Given the description of an element on the screen output the (x, y) to click on. 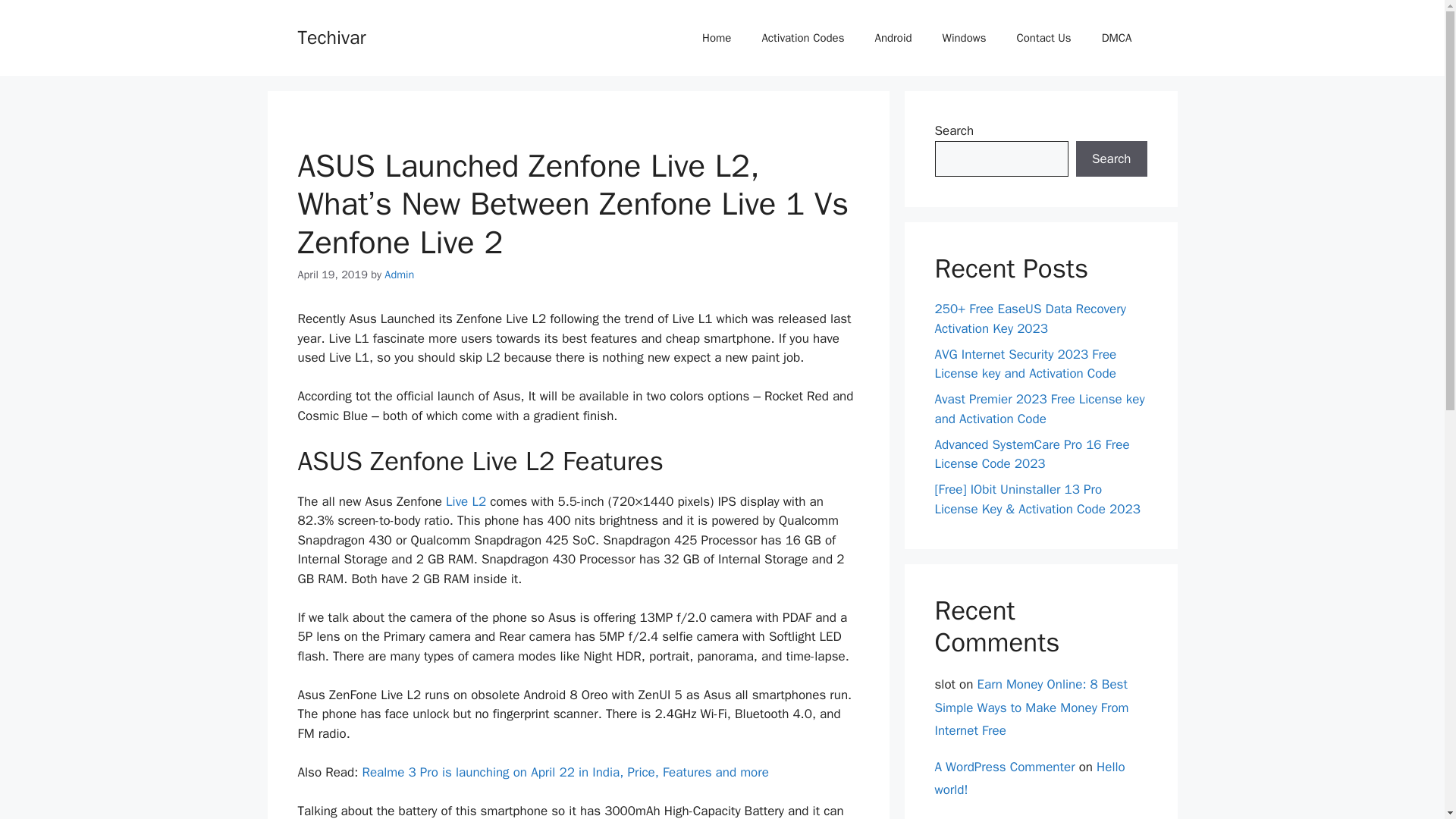
Live L2 (465, 501)
DMCA (1116, 37)
Search (1111, 158)
Android (892, 37)
Hello world! (1029, 778)
View all posts by Admin (398, 274)
Admin (398, 274)
Avast Premier 2023 Free License key and Activation Code (1039, 408)
Advanced SystemCare Pro 16 Free License Code 2023 (1031, 454)
Activation Codes (802, 37)
Windows (964, 37)
Techivar (331, 37)
